Given the description of an element on the screen output the (x, y) to click on. 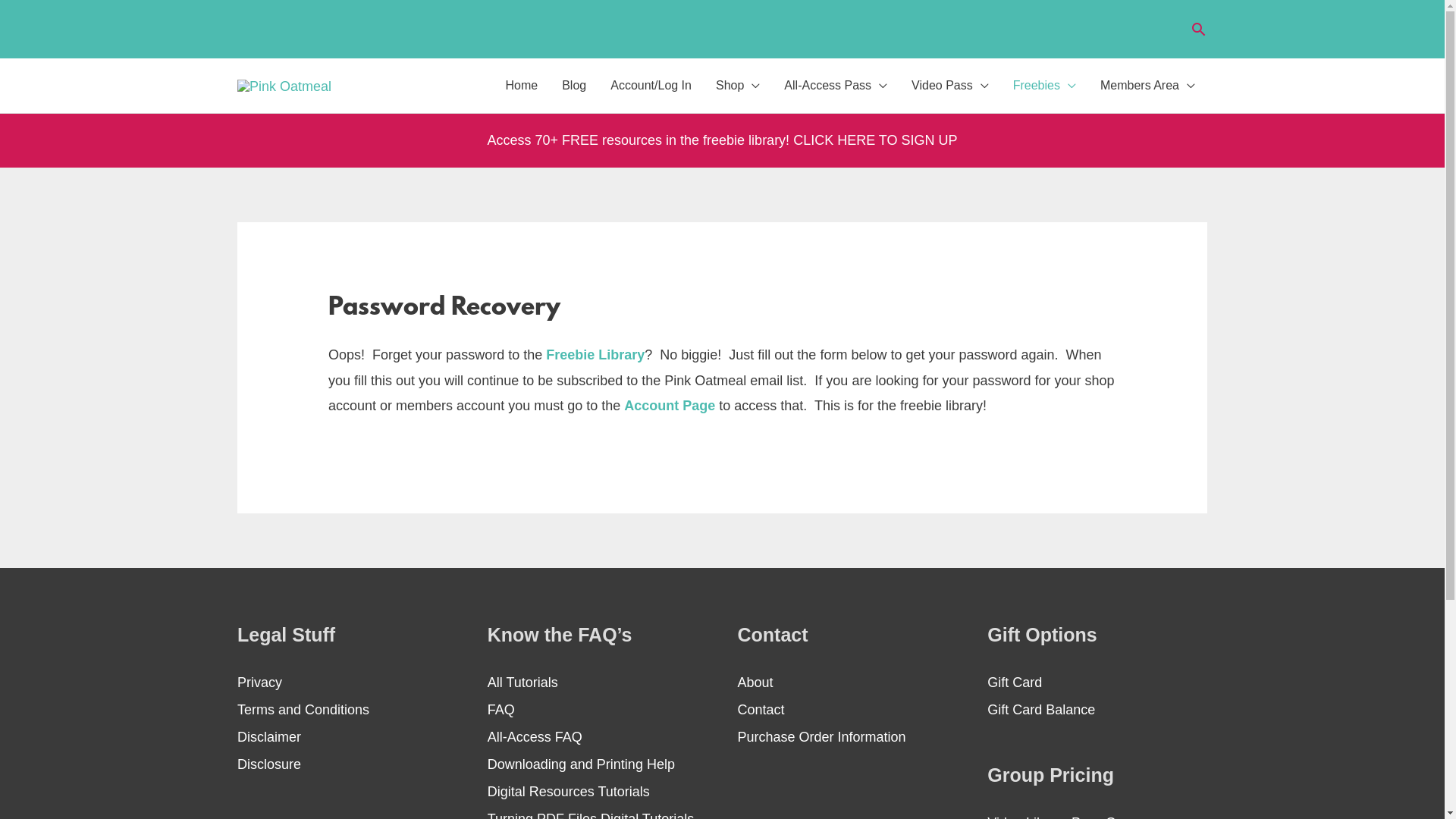
Account Page Element type: text (669, 405)
Members Area Element type: text (1147, 85)
All-Access FAQ Element type: text (534, 736)
Gift Card Balance Element type: text (1041, 709)
Freebie Library Element type: text (595, 354)
Blog Element type: text (573, 85)
Privacy Element type: text (259, 682)
Shop Element type: text (737, 85)
Search Element type: text (1198, 28)
Contact Element type: text (760, 709)
About Element type: text (754, 682)
Digital Resources Tutorials Element type: text (568, 791)
Gift Card Element type: text (1014, 682)
FAQ Element type: text (500, 709)
Video Pass Element type: text (950, 85)
Disclosure Element type: text (269, 763)
Terms and Conditions Element type: text (303, 709)
CLICK HERE TO SIGN UP Element type: text (875, 139)
Freebies Element type: text (1044, 85)
Home Element type: text (520, 85)
All Tutorials Element type: text (522, 682)
Account/Log In Element type: text (650, 85)
Purchase Order Information Element type: text (821, 736)
All-Access Pass Element type: text (835, 85)
Disclaimer Element type: text (269, 736)
Downloading and Printing Help Element type: text (580, 763)
